Given the description of an element on the screen output the (x, y) to click on. 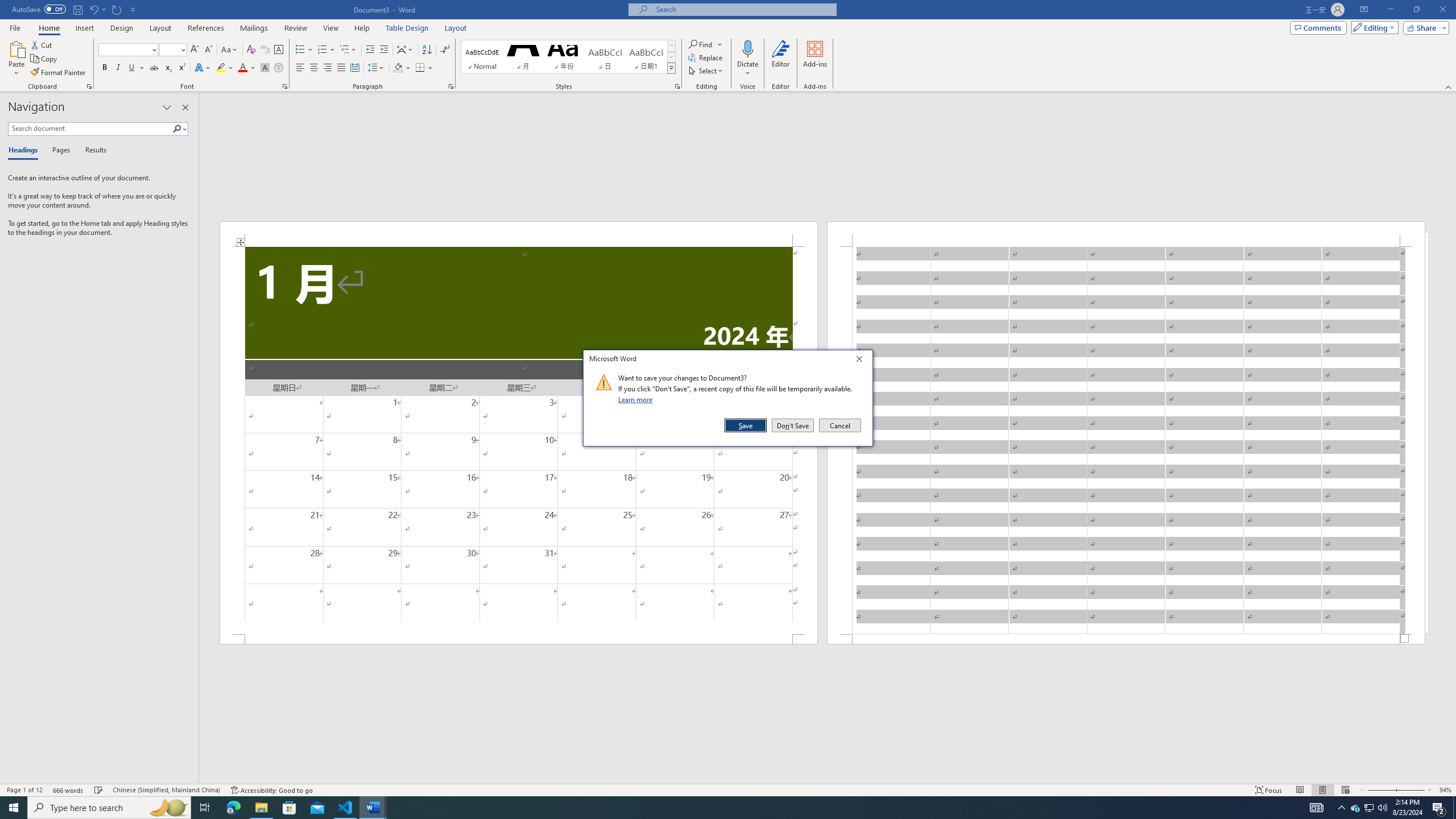
Don't Save (792, 425)
Select (705, 69)
Repeat Text Fill Effect (117, 9)
Align Right (327, 67)
Task View (204, 807)
